Given the description of an element on the screen output the (x, y) to click on. 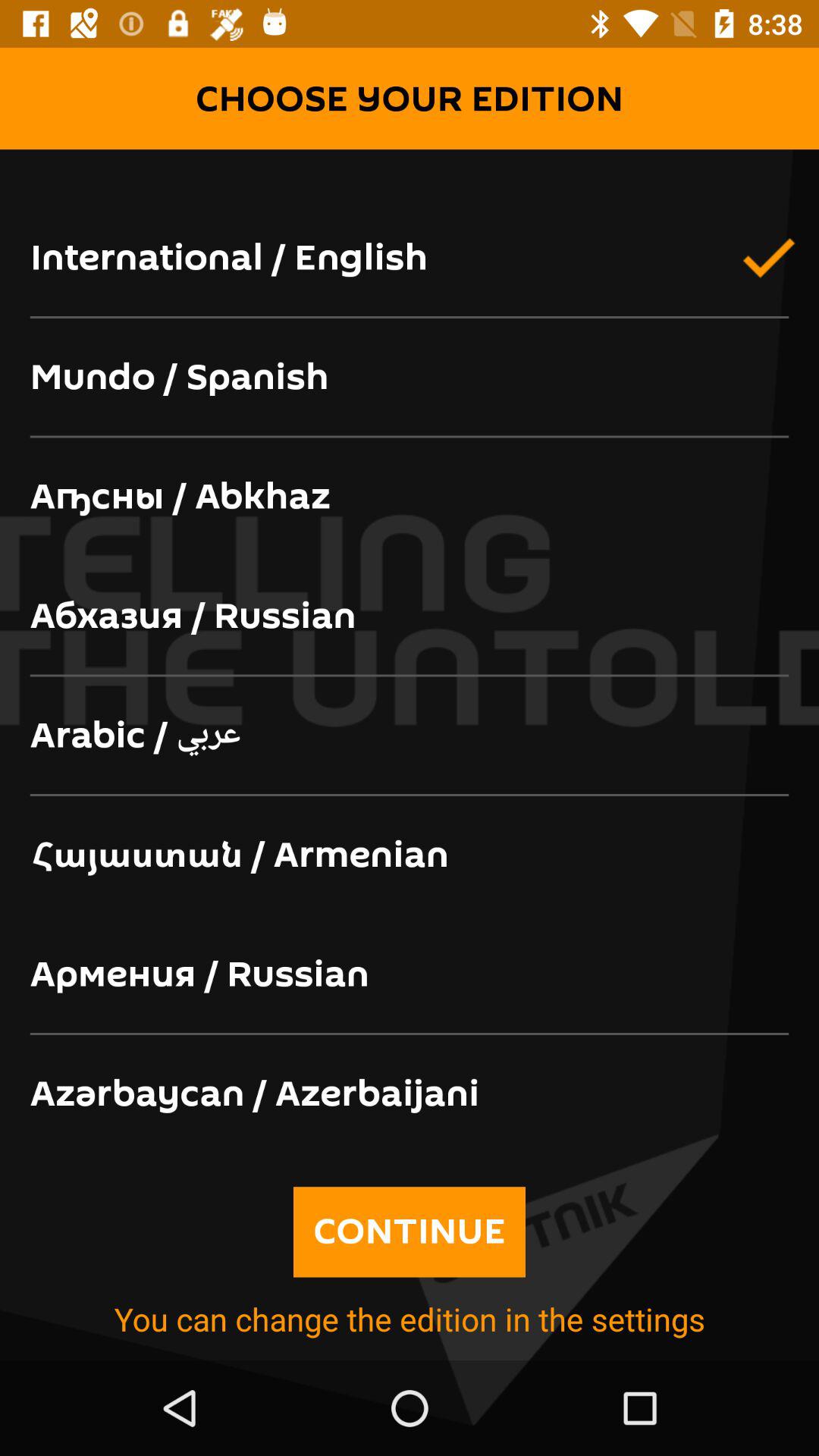
choose app below mundo / spanish item (409, 497)
